Given the description of an element on the screen output the (x, y) to click on. 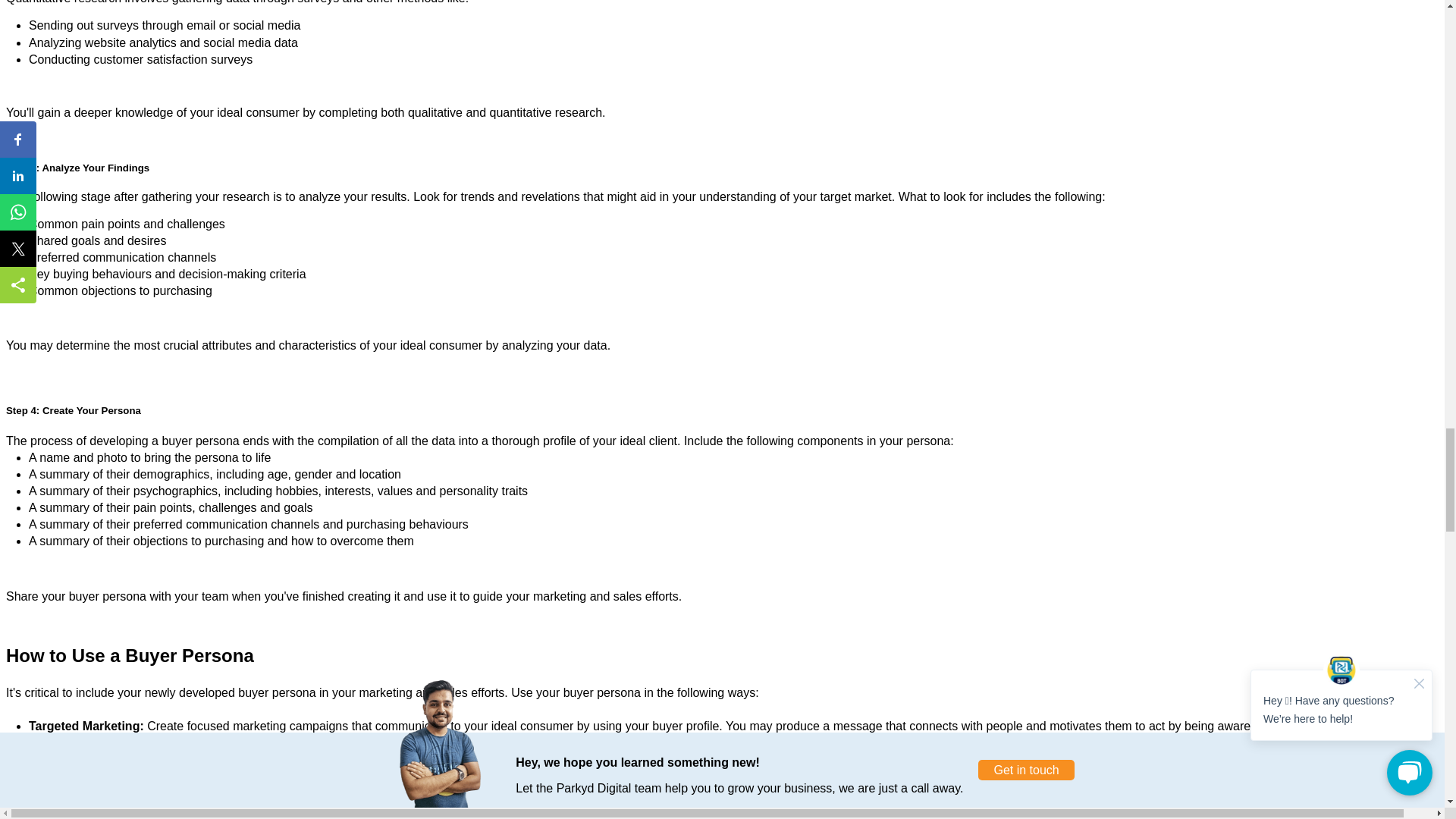
this (547, 792)
